Given the description of an element on the screen output the (x, y) to click on. 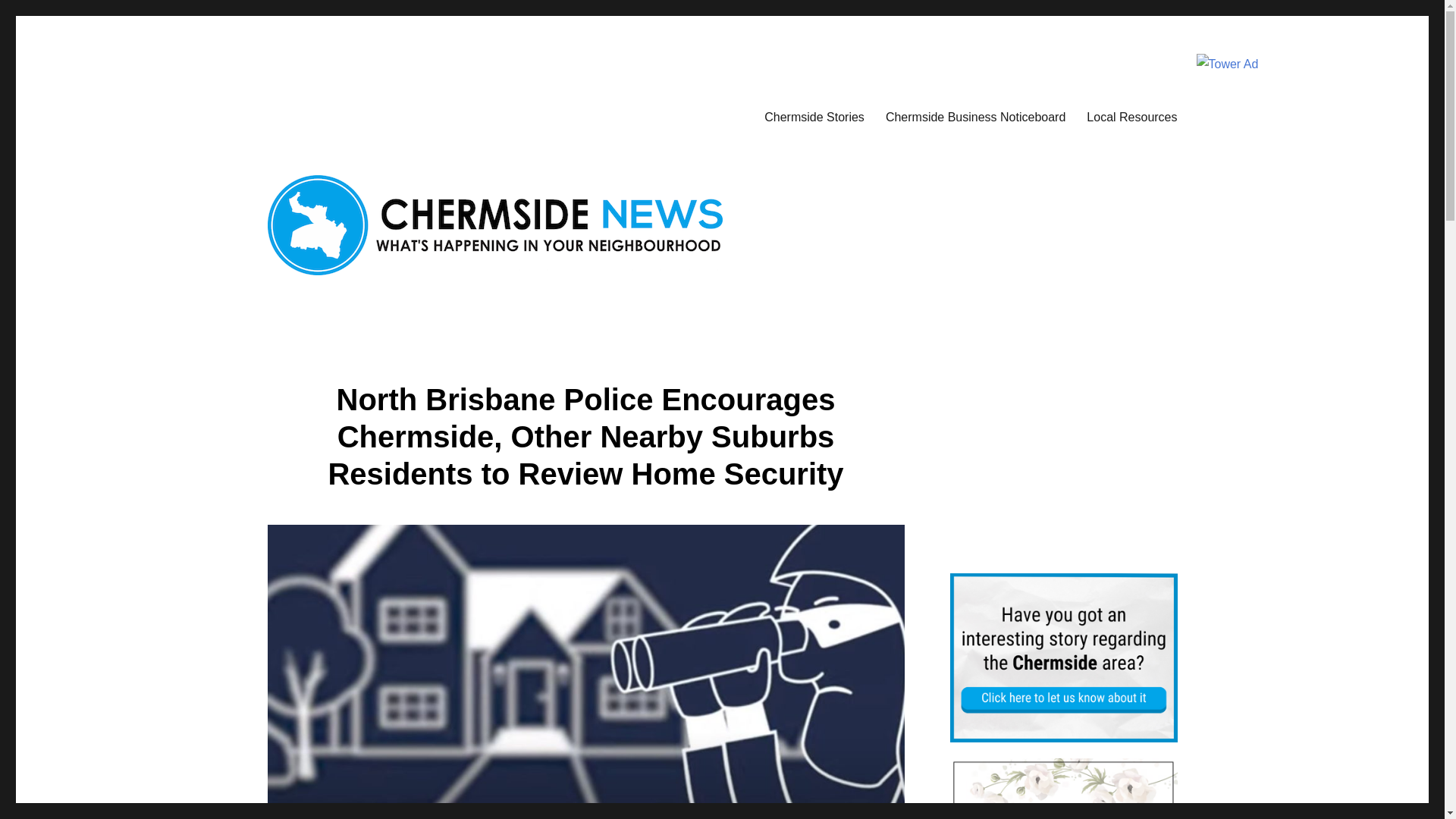
Chermside Stories (814, 116)
Local Resources (1131, 116)
Chermside Business Noticeboard (975, 116)
Chermside News (352, 114)
